Given the description of an element on the screen output the (x, y) to click on. 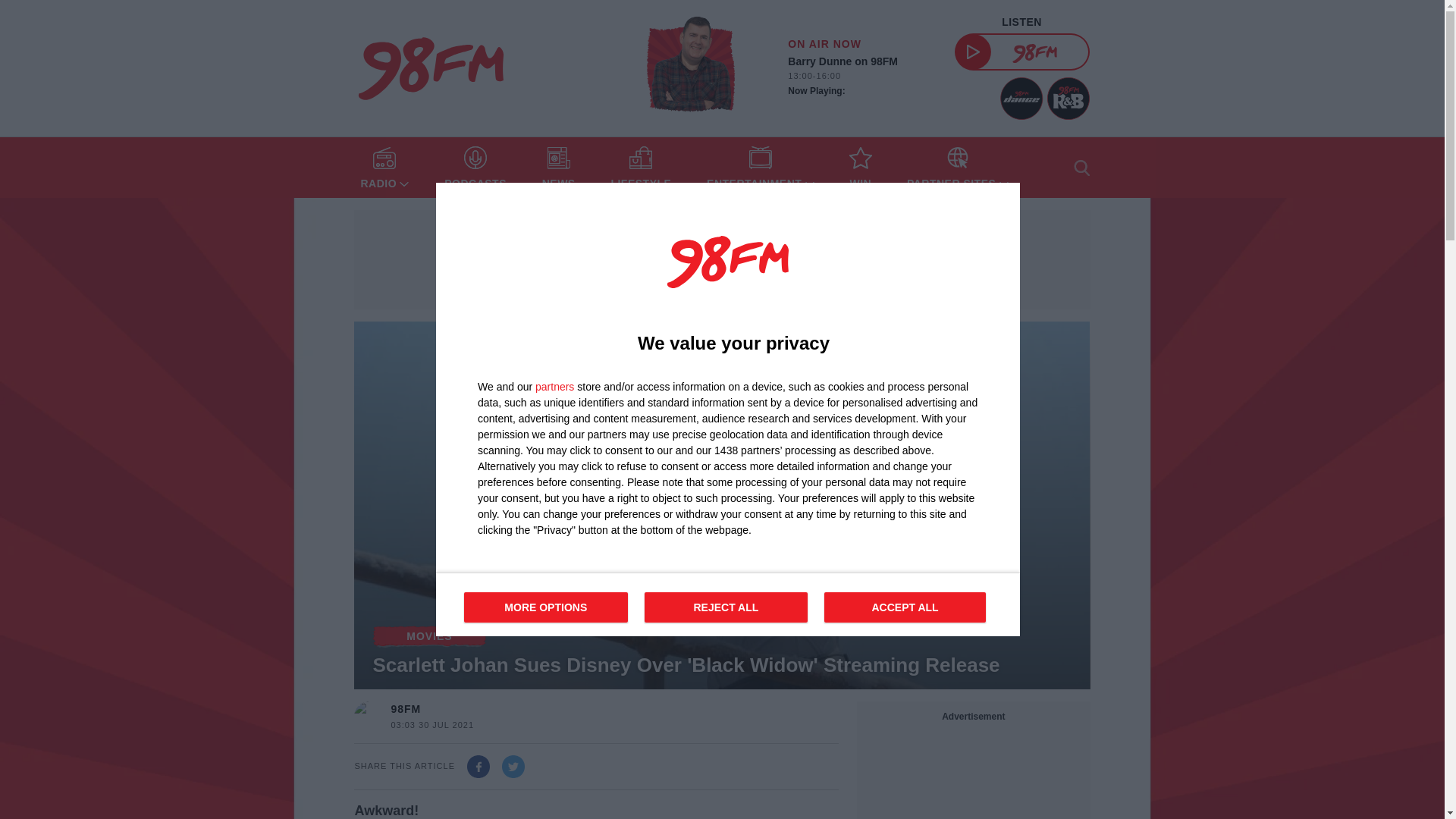
MORE OPTIONS (545, 607)
RADIO (383, 167)
ACCEPT ALL (904, 607)
Barry Dunne on 98FM (690, 68)
MOVIES (860, 76)
partners (429, 635)
LIFESTYLE (554, 386)
ENTERTAINMENT (640, 167)
Lifestyle (760, 167)
